Given the description of an element on the screen output the (x, y) to click on. 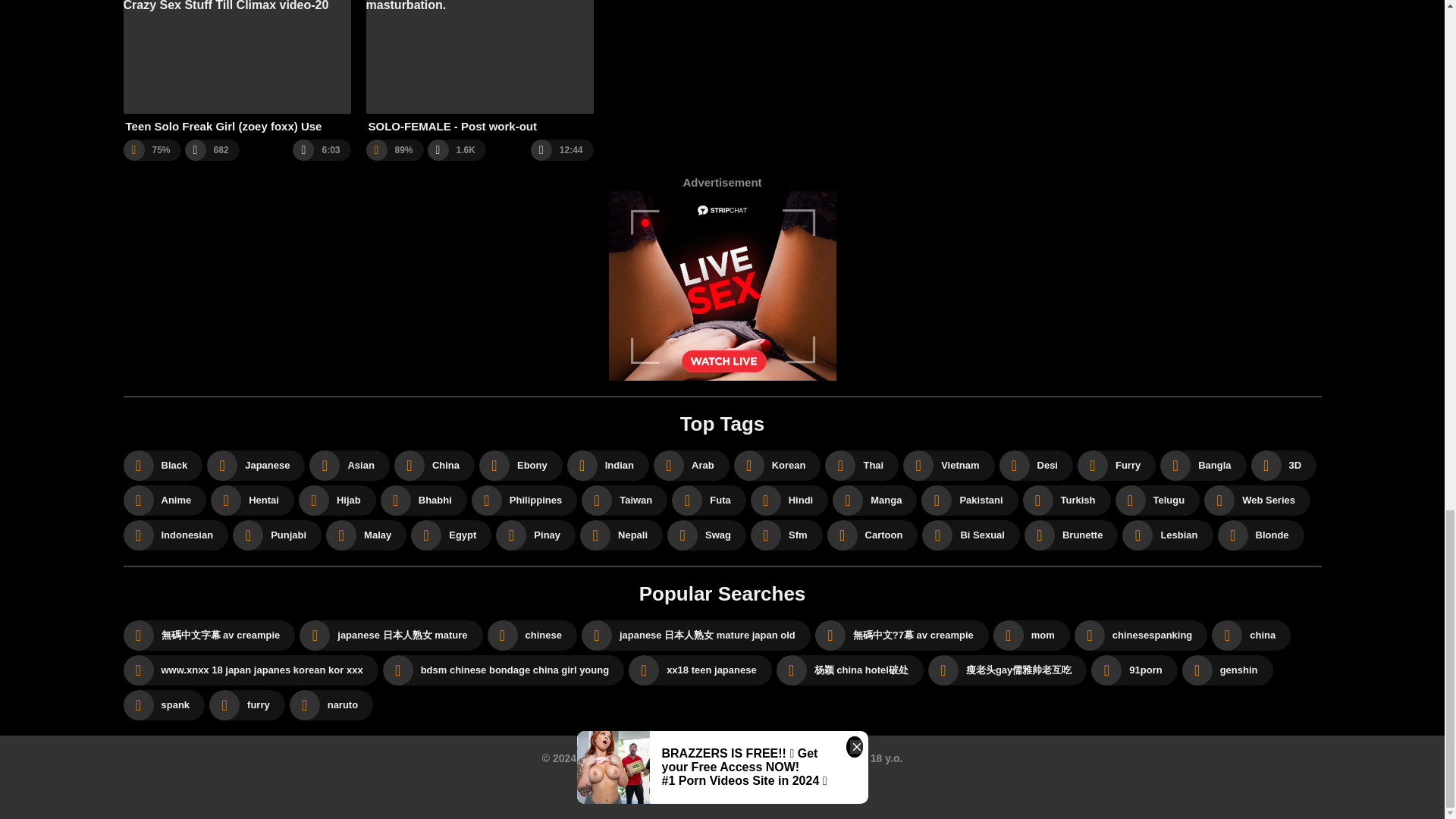
Korean (777, 465)
Desi (1035, 465)
Arab (691, 465)
Thai (861, 465)
Anime (164, 500)
Ebony (520, 465)
SOLO-FEMALE - Post work-out masturbation. (478, 67)
China (434, 465)
Asian (348, 465)
Bangla (1203, 465)
Japanese (255, 465)
Hentai (252, 500)
Black (162, 465)
3D (1283, 465)
Hijab (336, 500)
